Given the description of an element on the screen output the (x, y) to click on. 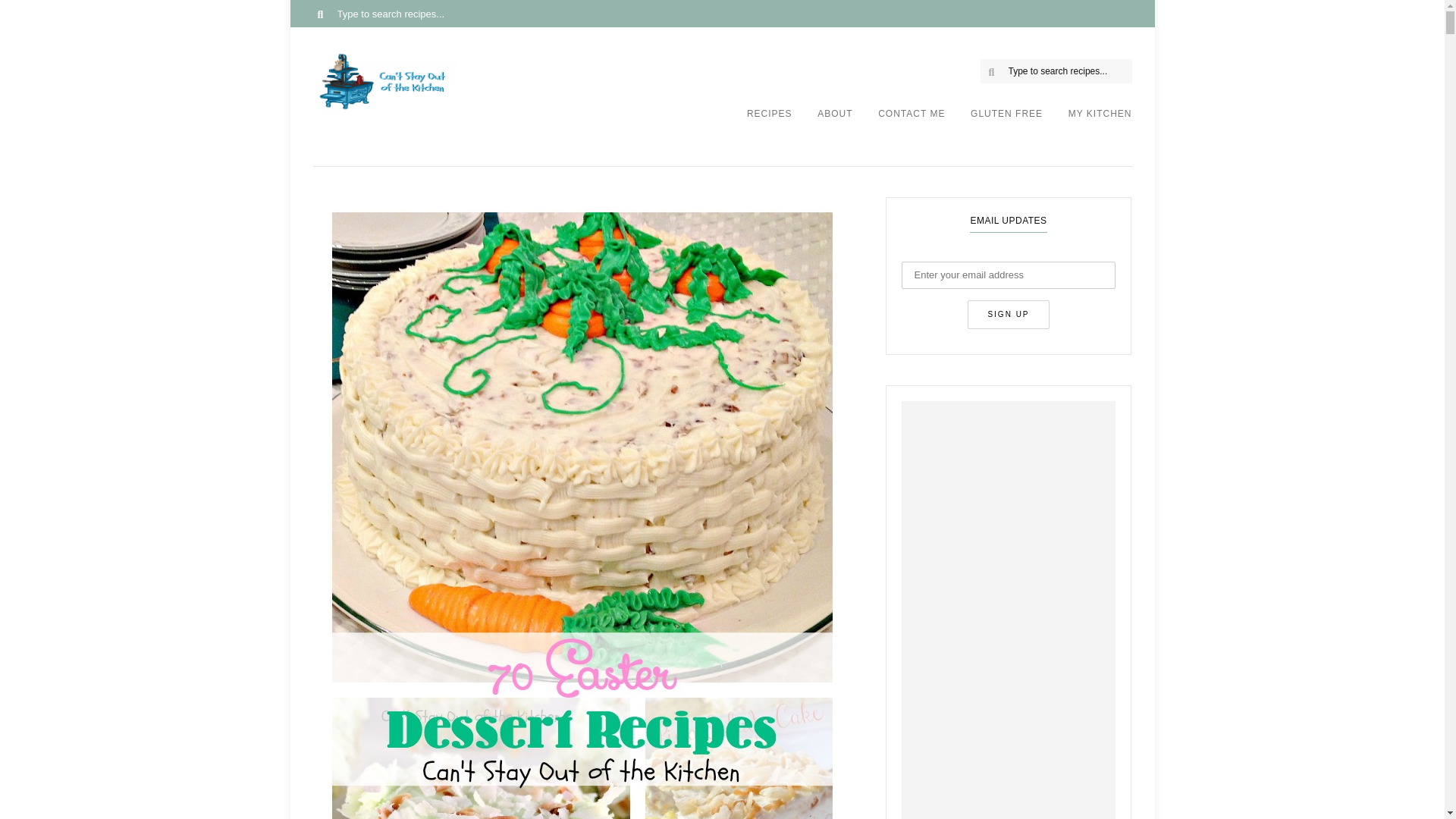
ABOUT (833, 119)
RECIPES (769, 119)
